Given the description of an element on the screen output the (x, y) to click on. 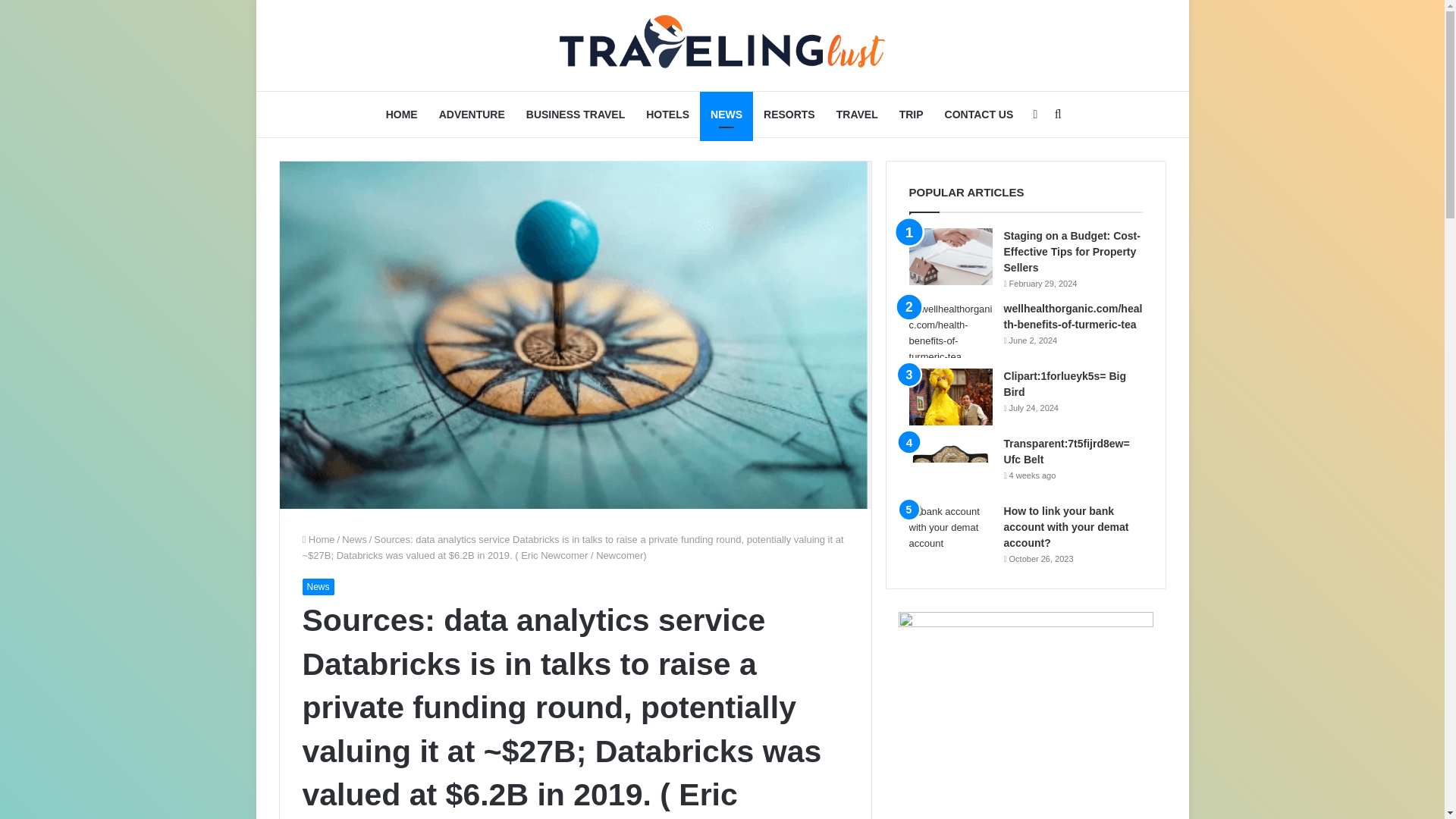
HOTELS (667, 114)
News (354, 539)
TRAVEL (856, 114)
CONTACT US (979, 114)
NEWS (726, 114)
HOME (401, 114)
RESORTS (788, 114)
Home (317, 539)
BUSINESS TRAVEL (574, 114)
News (317, 586)
